Given the description of an element on the screen output the (x, y) to click on. 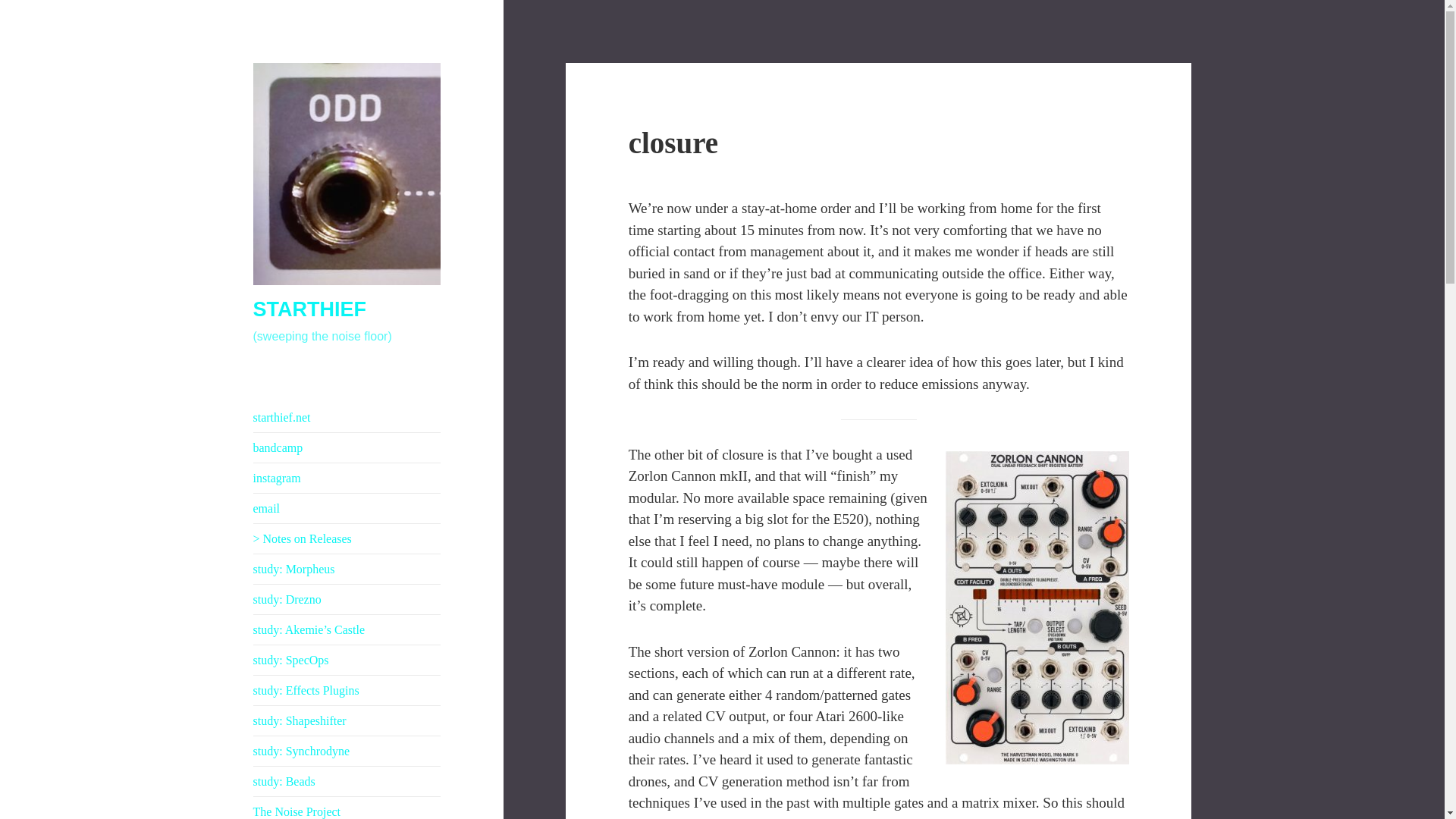
study: Beads (284, 780)
The Noise Project (296, 811)
study: Morpheus (293, 568)
study: Effects Plugins (306, 689)
study: Synchrodyne (301, 750)
study: Shapeshifter (299, 720)
study: Drezno (287, 599)
STARTHIEF (309, 309)
email (267, 508)
study: SpecOps (291, 659)
